Given the description of an element on the screen output the (x, y) to click on. 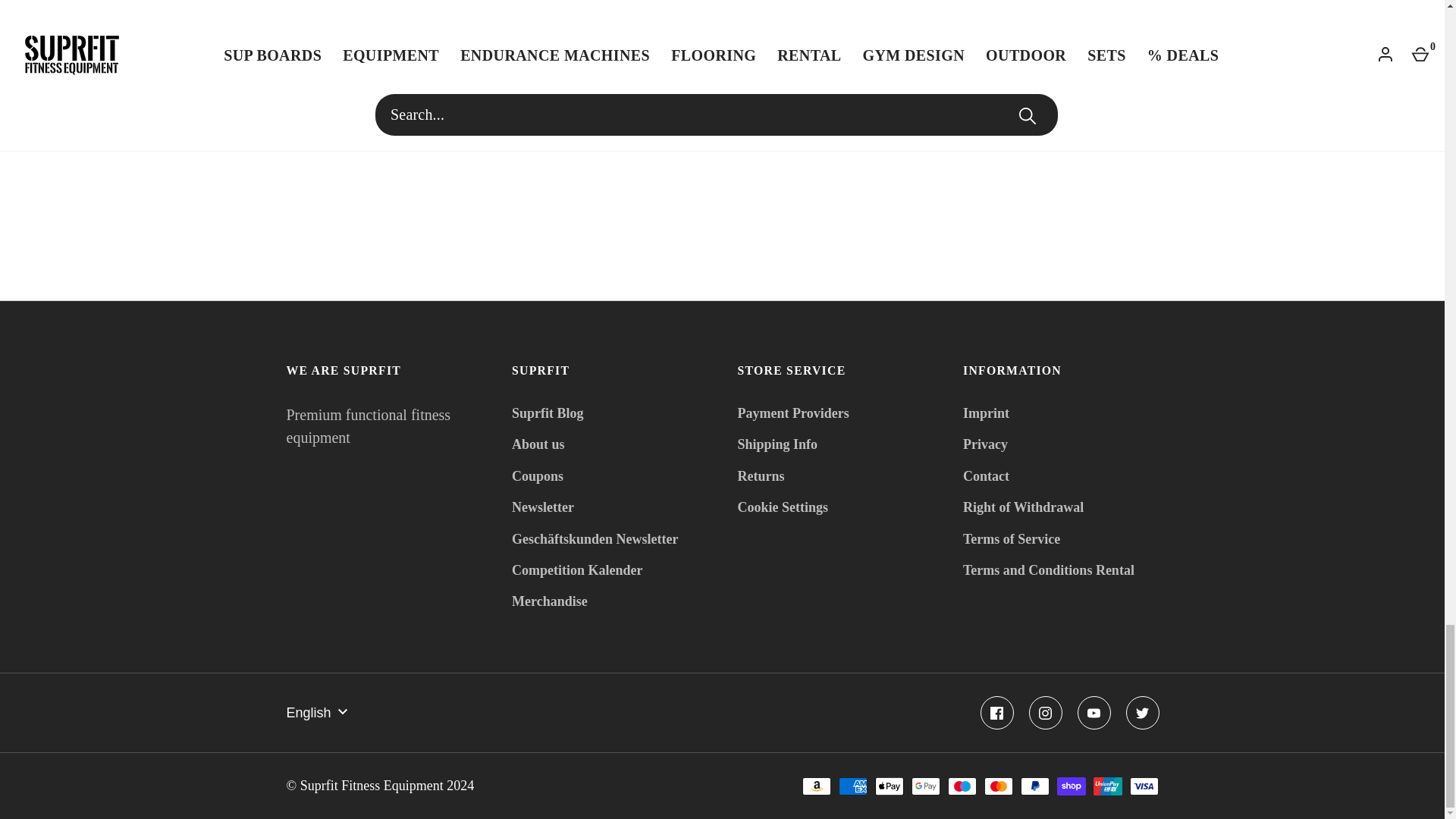
Down (342, 711)
